Given the description of an element on the screen output the (x, y) to click on. 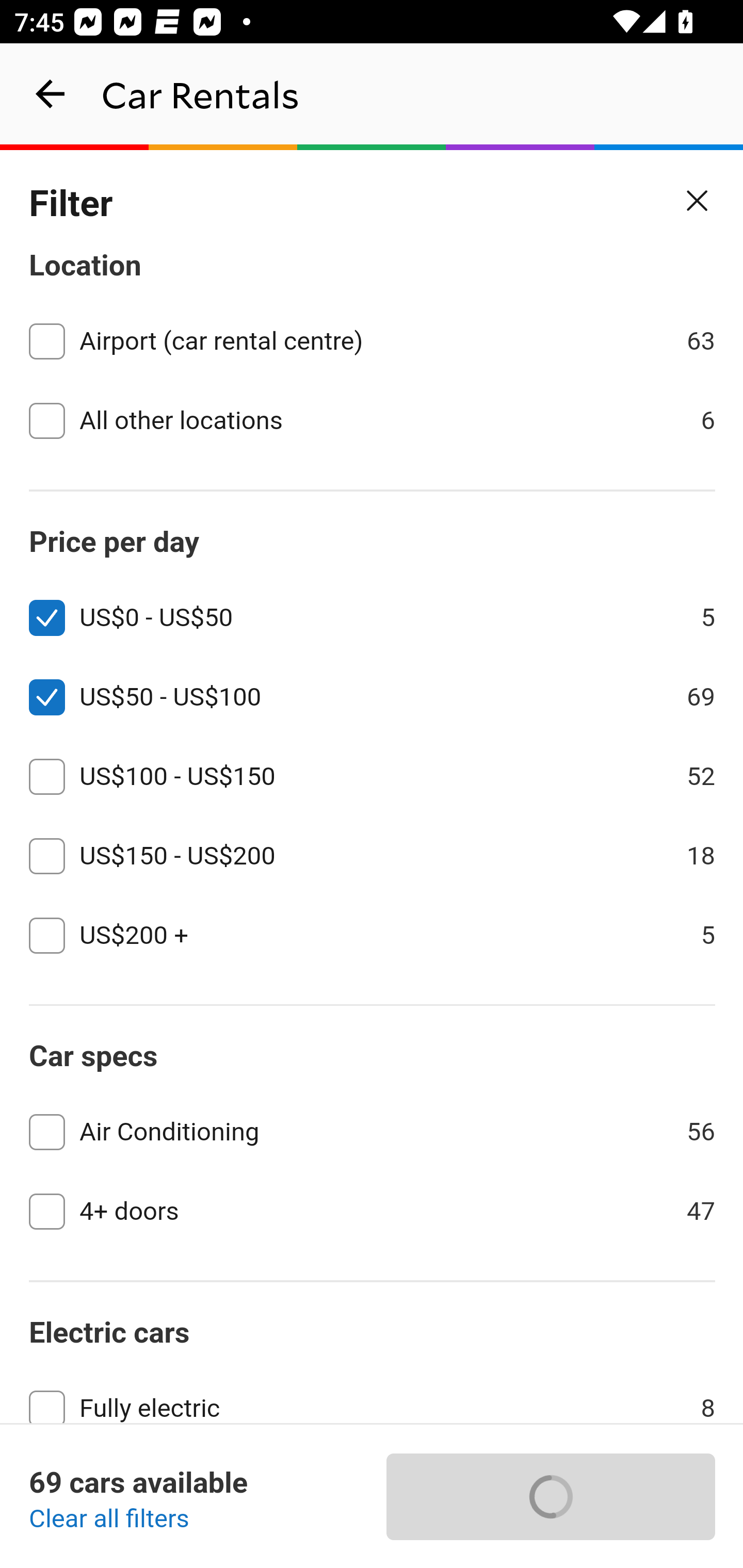
navigation_button (50, 93)
Close (697, 201)
Clear all filters (108, 1519)
